Given the description of an element on the screen output the (x, y) to click on. 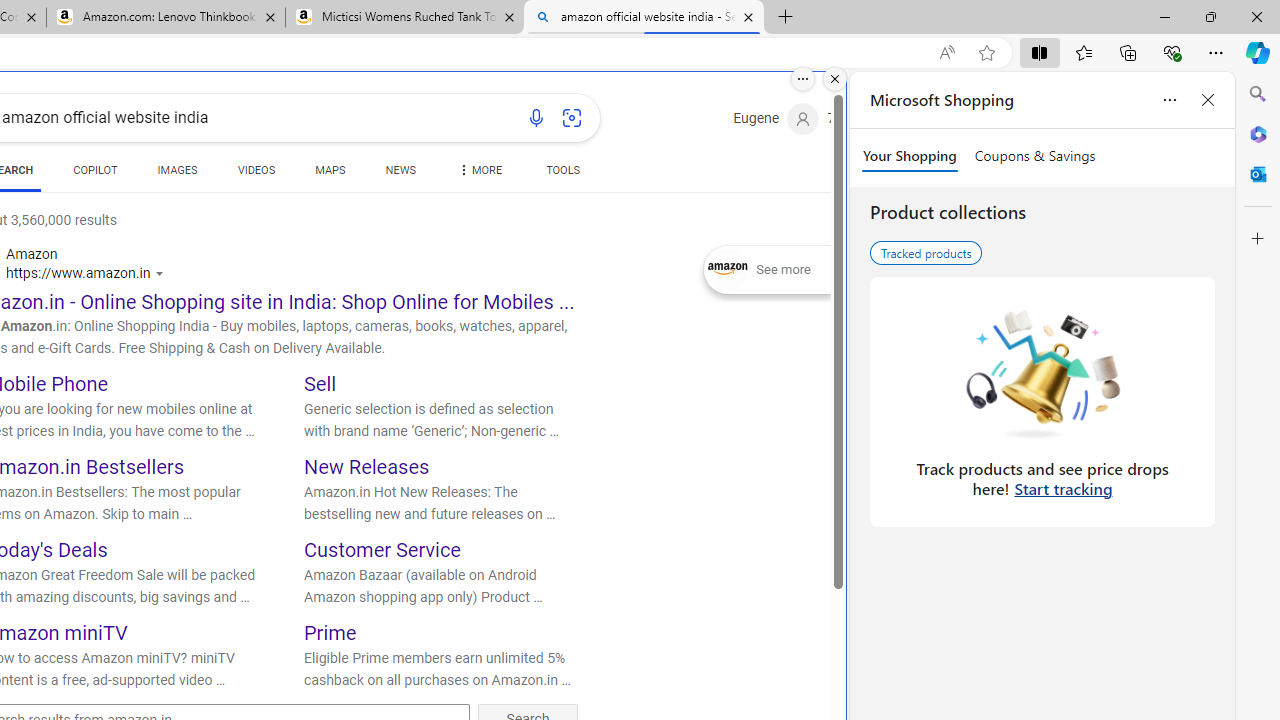
amazon official website india - Search (643, 17)
Microsoft Rewards 72 (856, 119)
Actions for this site (161, 273)
Search using an image (572, 117)
Close split screen. (835, 79)
MAPS (330, 170)
NEWS (400, 170)
Customer Service (382, 549)
Search using voice (536, 117)
